Given the description of an element on the screen output the (x, y) to click on. 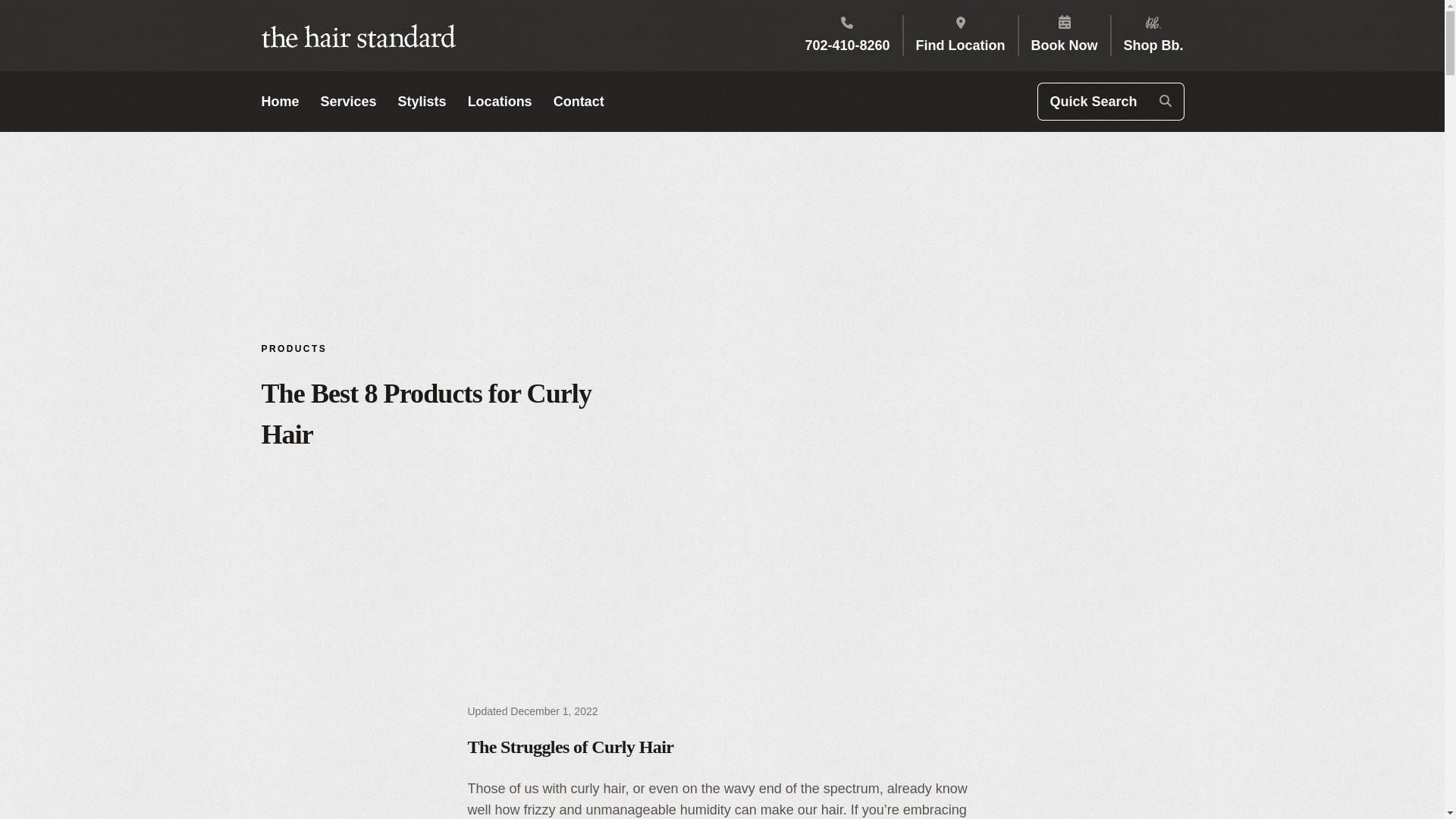
Shop Bb. (1153, 45)
Book Now (1063, 45)
Find Location (960, 45)
Services (348, 101)
Home (279, 101)
Contact (578, 101)
PRODUCTS (293, 348)
Stylists (421, 101)
Locations (499, 101)
702-410-8260 (847, 45)
